Given the description of an element on the screen output the (x, y) to click on. 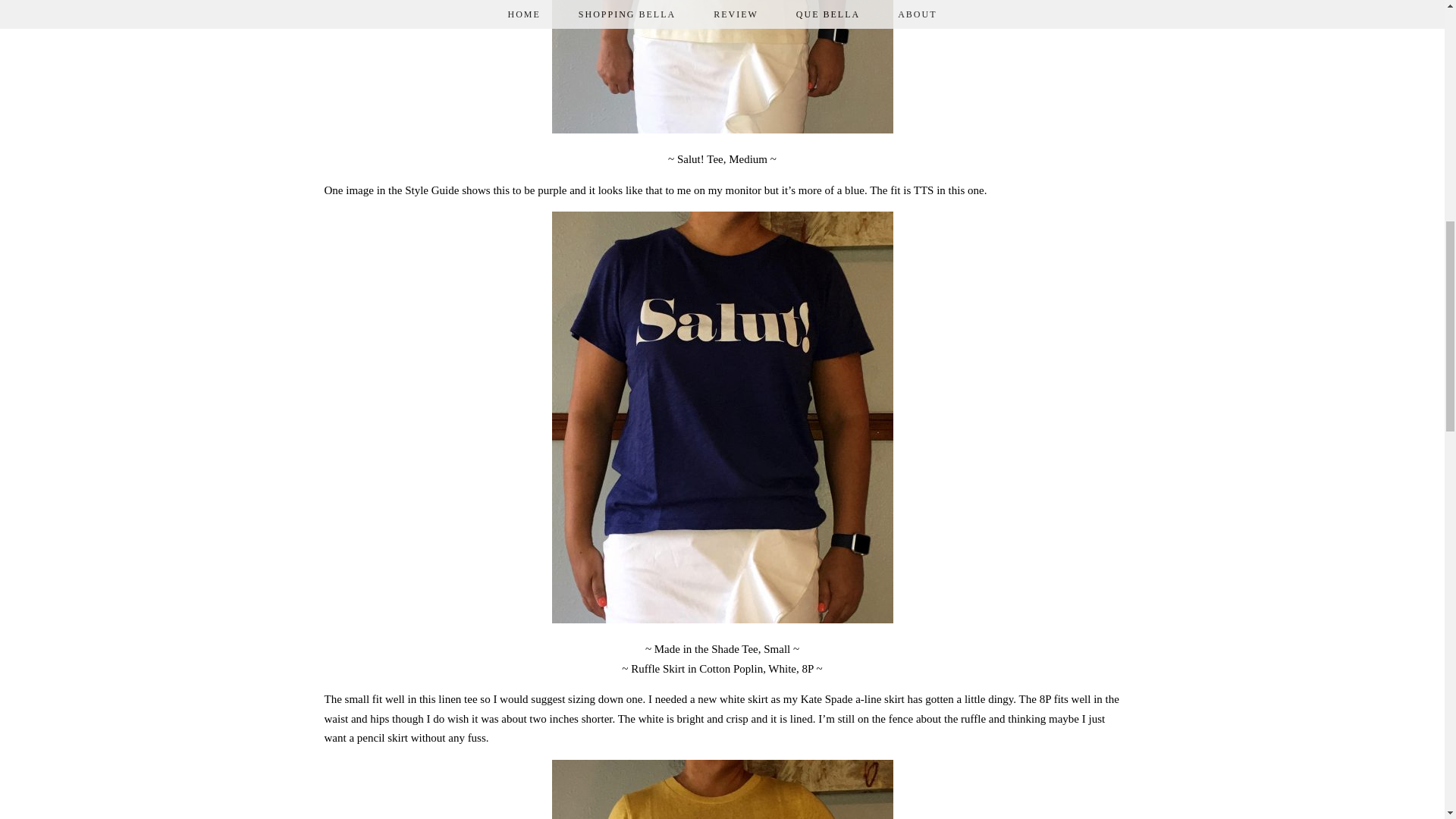
Made in the Shade Tee (705, 648)
Ruffle Skirt in Cotton Poplin (696, 668)
Salut! Tee (700, 159)
